Given the description of an element on the screen output the (x, y) to click on. 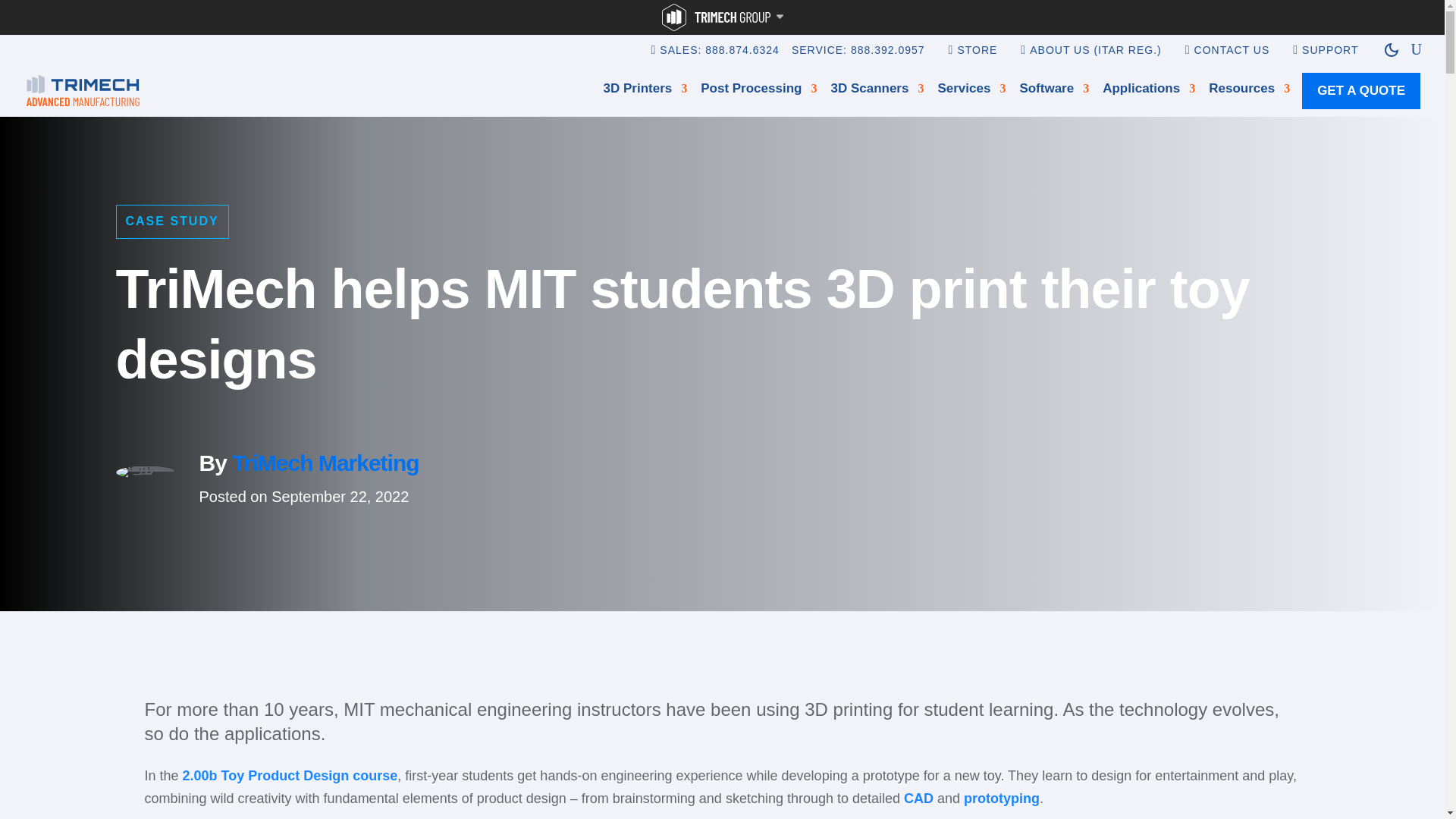
STORE (976, 60)
3D Printers (644, 91)
SALES: 888.874.6324 (718, 60)
CONTACT US (1231, 60)
SERVICE: 888.392.0957 (858, 60)
SUPPORT (1329, 60)
